Given the description of an element on the screen output the (x, y) to click on. 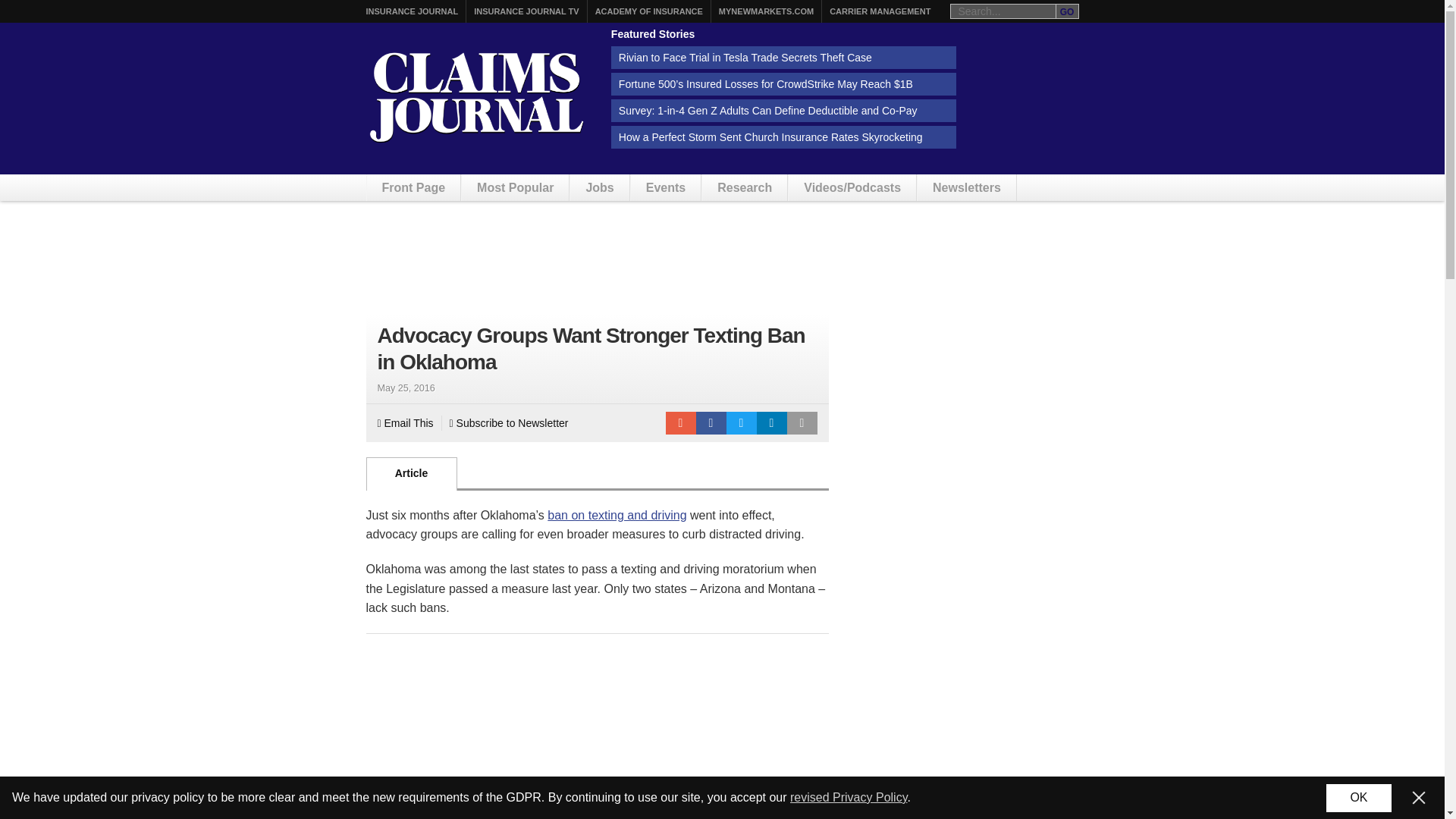
Events (665, 187)
Facebook (710, 422)
MYNEWMARKETS.COM (766, 11)
Go (1066, 11)
Front Page (413, 187)
Email to a friend (680, 422)
Rivian to Face Trial in Tesla Trade Secrets Theft Case (783, 56)
Print Article (801, 422)
LinkedIn (772, 422)
Tweet (741, 422)
Print Article (801, 422)
Survey: 1-in-4 Gen Z Adults Can Define Deductible and Co-Pay (783, 110)
Newsletters (966, 187)
Jobs (599, 187)
Most Popular (515, 187)
